Given the description of an element on the screen output the (x, y) to click on. 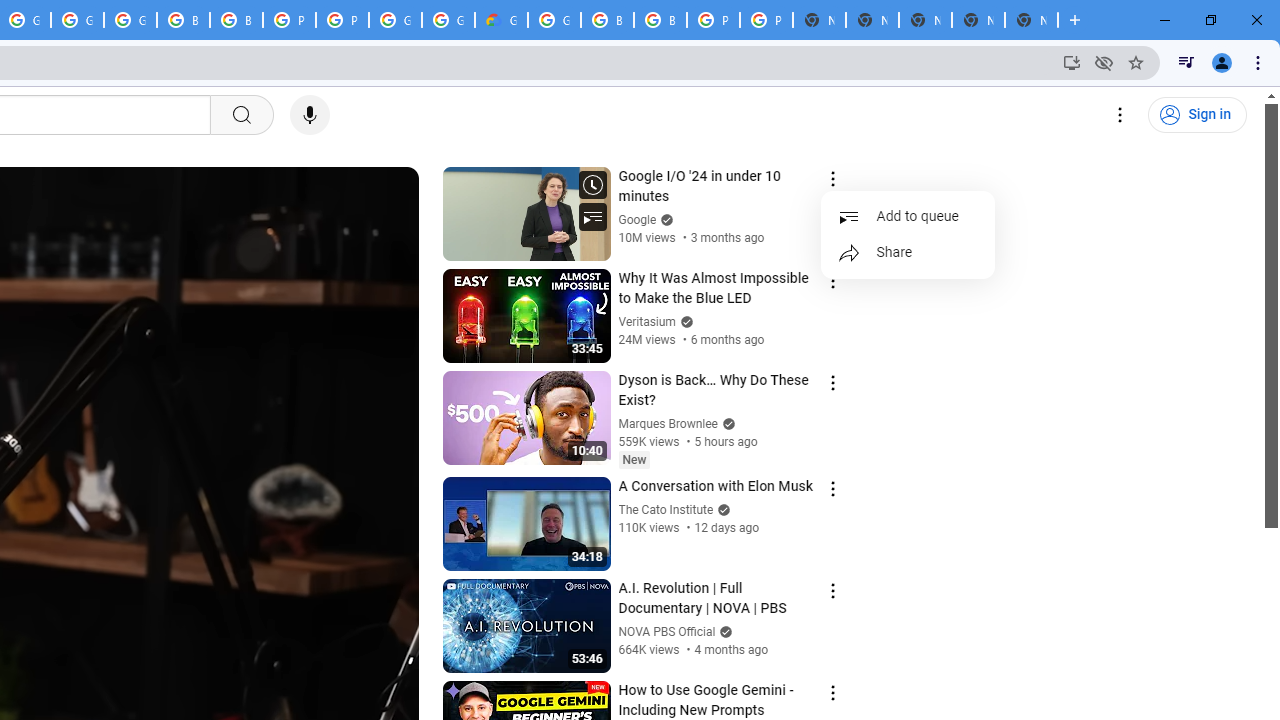
Add to queue (907, 216)
Browse Chrome as a guest - Computer - Google Chrome Help (183, 20)
